Given the description of an element on the screen output the (x, y) to click on. 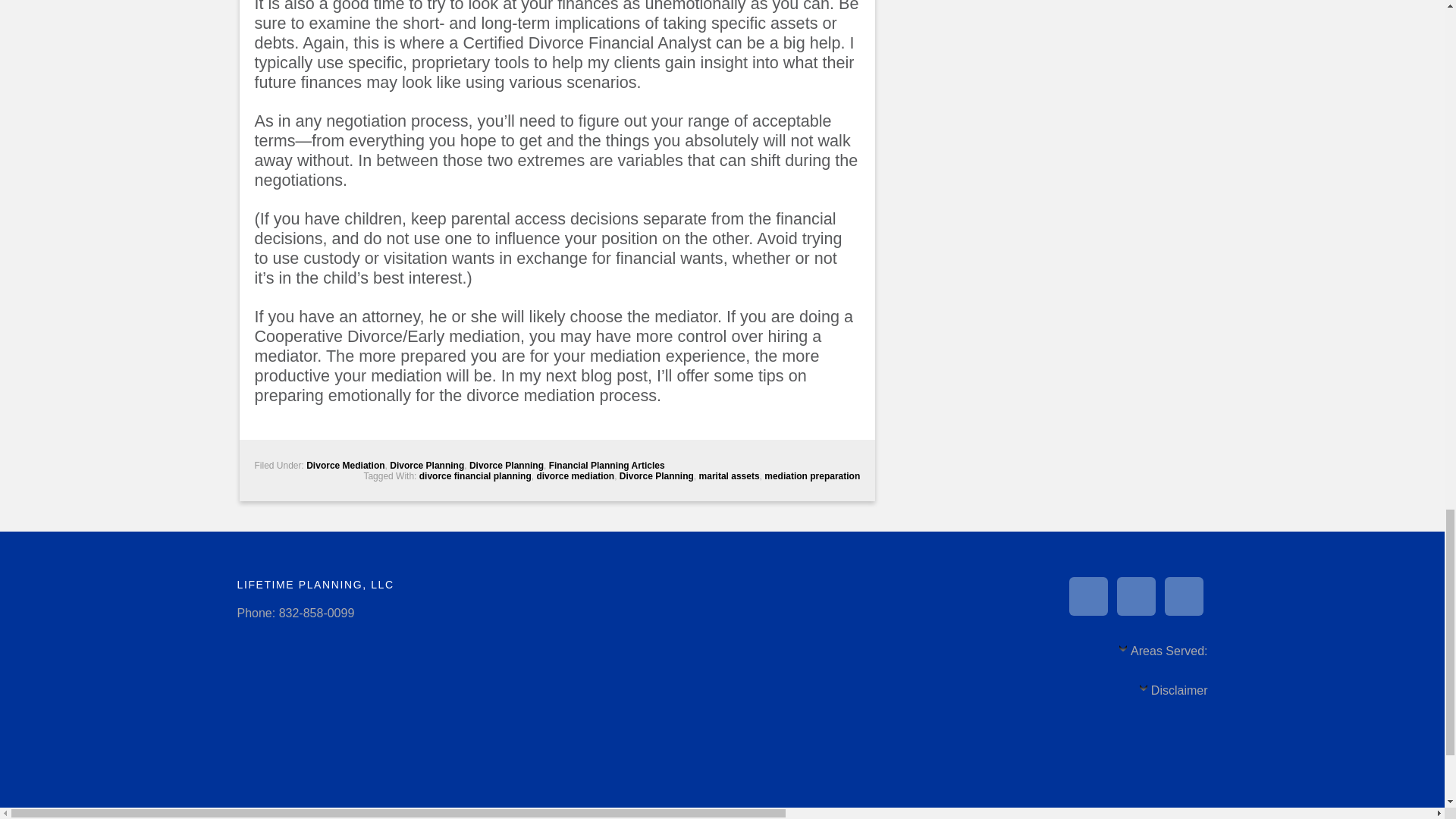
Disclaimer (1173, 694)
Divorce Planning (657, 475)
Divorce Planning (427, 465)
Divorce Mediation (344, 465)
divorce mediation (574, 475)
marital assets (729, 475)
divorce financial planning (475, 475)
Financial Planning Articles (606, 465)
Areas Served: (1162, 654)
mediation preparation (812, 475)
Divorce Planning (505, 465)
